Given the description of an element on the screen output the (x, y) to click on. 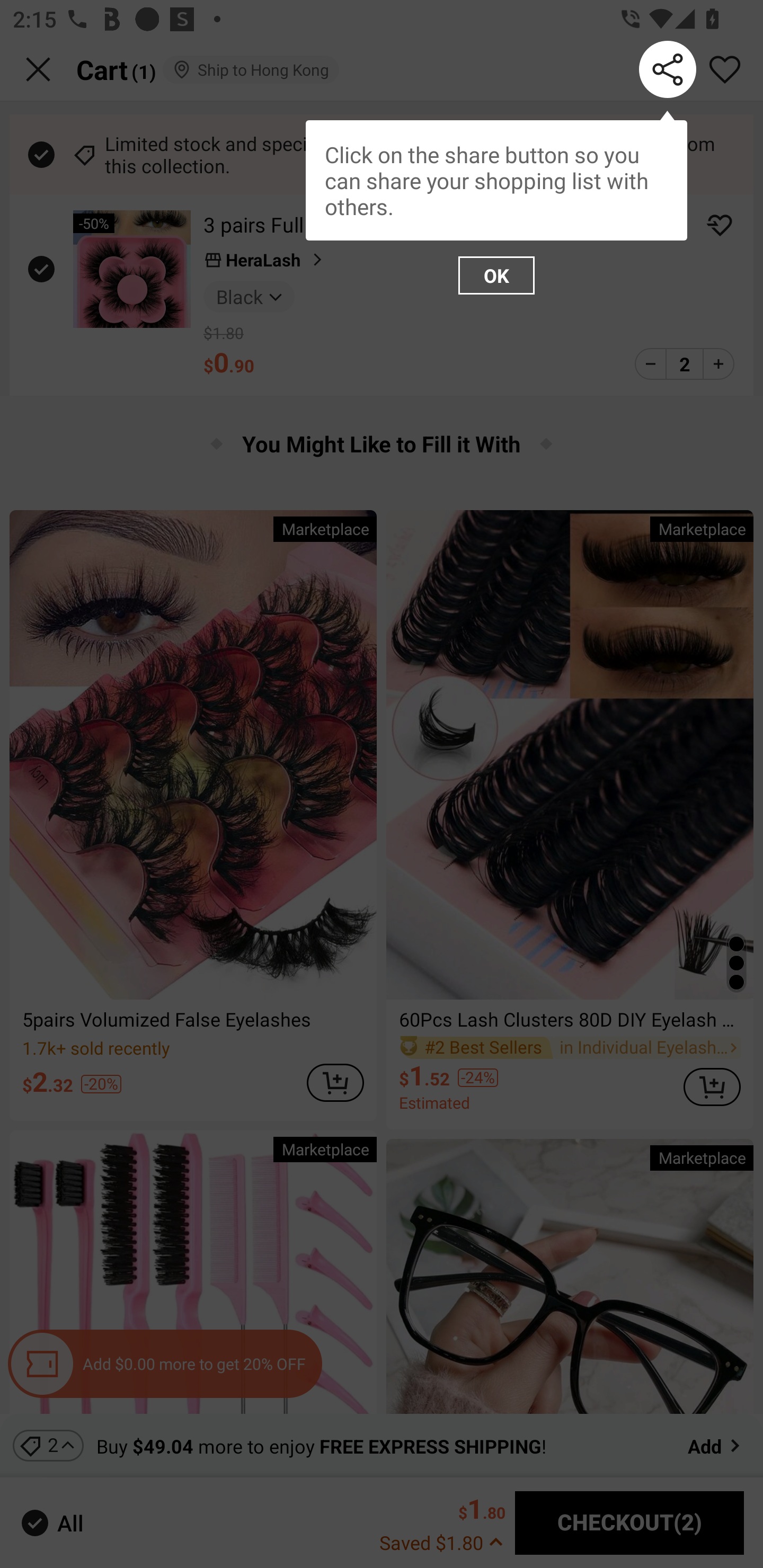
Share (667, 68)
OK (496, 275)
